Given the description of an element on the screen output the (x, y) to click on. 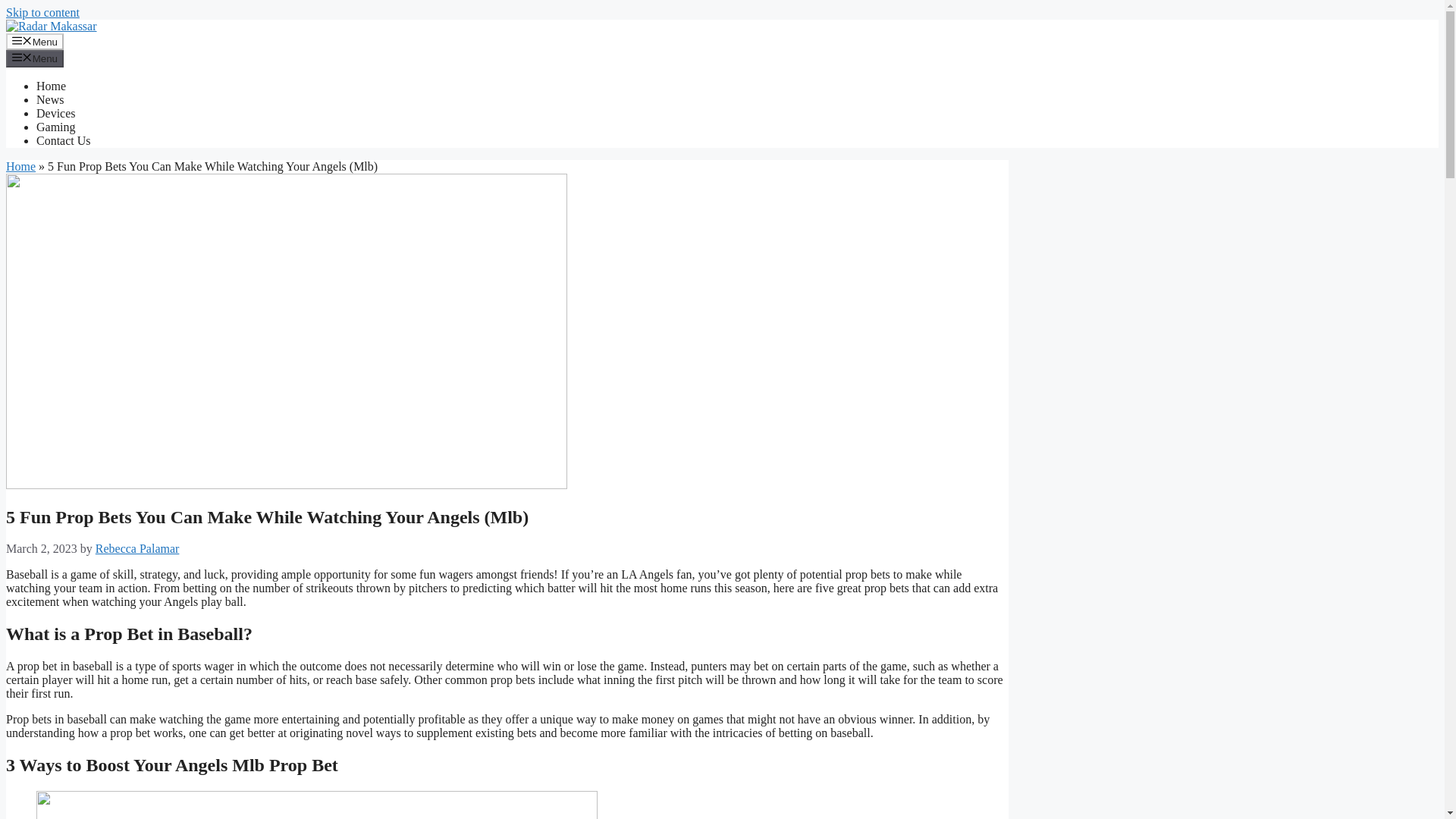
Gaming (55, 126)
Home (19, 165)
Skip to content (42, 11)
Devices (55, 113)
Menu (34, 57)
Rebecca Palamar (137, 548)
Home (50, 85)
Skip to content (42, 11)
Menu (34, 41)
View all posts by Rebecca Palamar (137, 548)
Contact Us (63, 140)
News (50, 99)
